Given the description of an element on the screen output the (x, y) to click on. 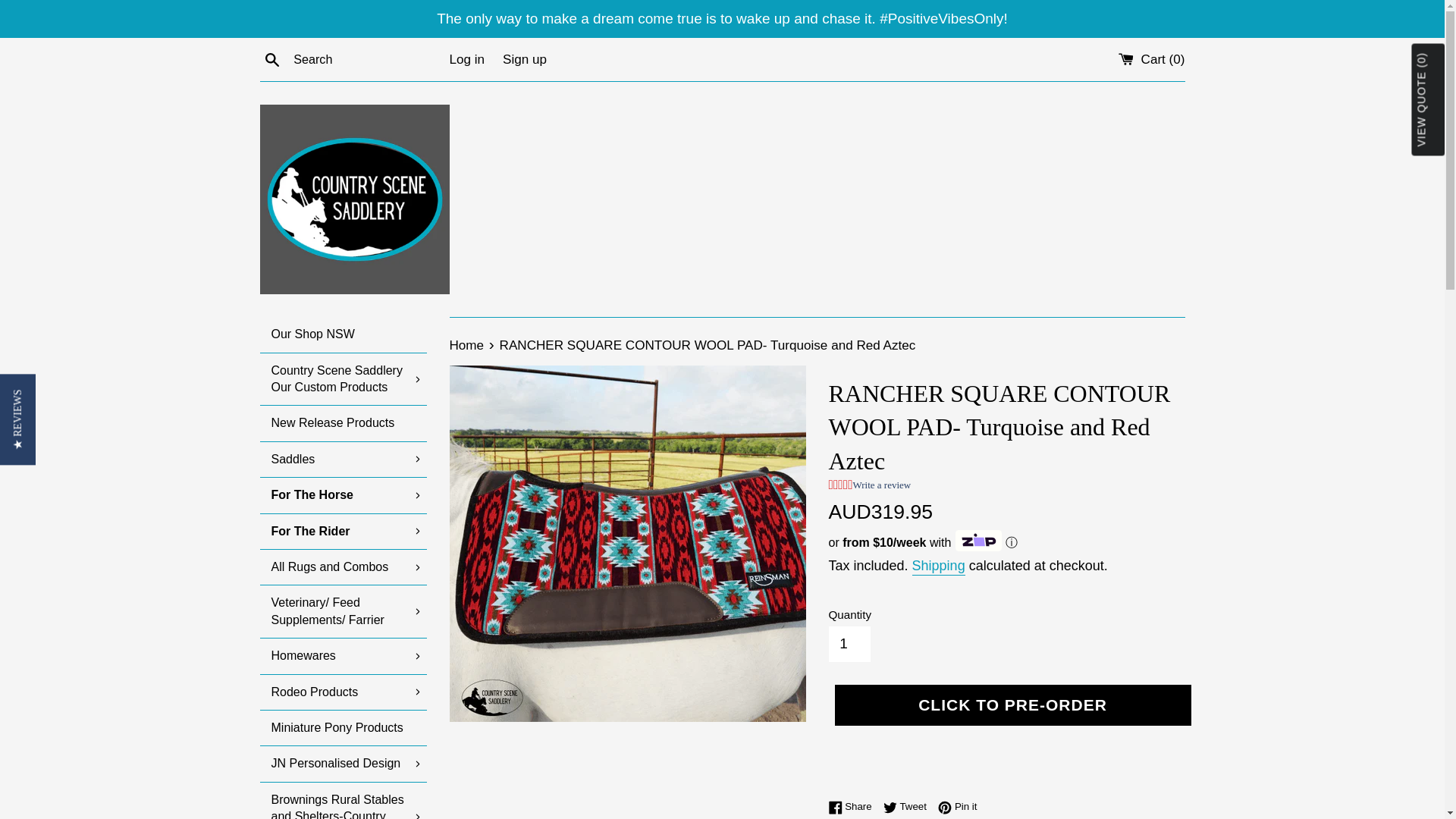
Brownings Rural  Stables and Shelters-Country Scene Saddlery (342, 800)
Back to the frontpage (467, 345)
New Release Products (342, 422)
Saddles (342, 459)
Our Shop NSW (342, 334)
Homewares (342, 655)
Saddles (342, 459)
Shipping (938, 566)
Share on Facebook (853, 806)
All Rugs and Combos (342, 566)
Sign up (524, 59)
For The Rider (342, 531)
1 (848, 643)
 Country Scene Saddlery  Our Custom Products (342, 378)
Homewares (342, 655)
